Given the description of an element on the screen output the (x, y) to click on. 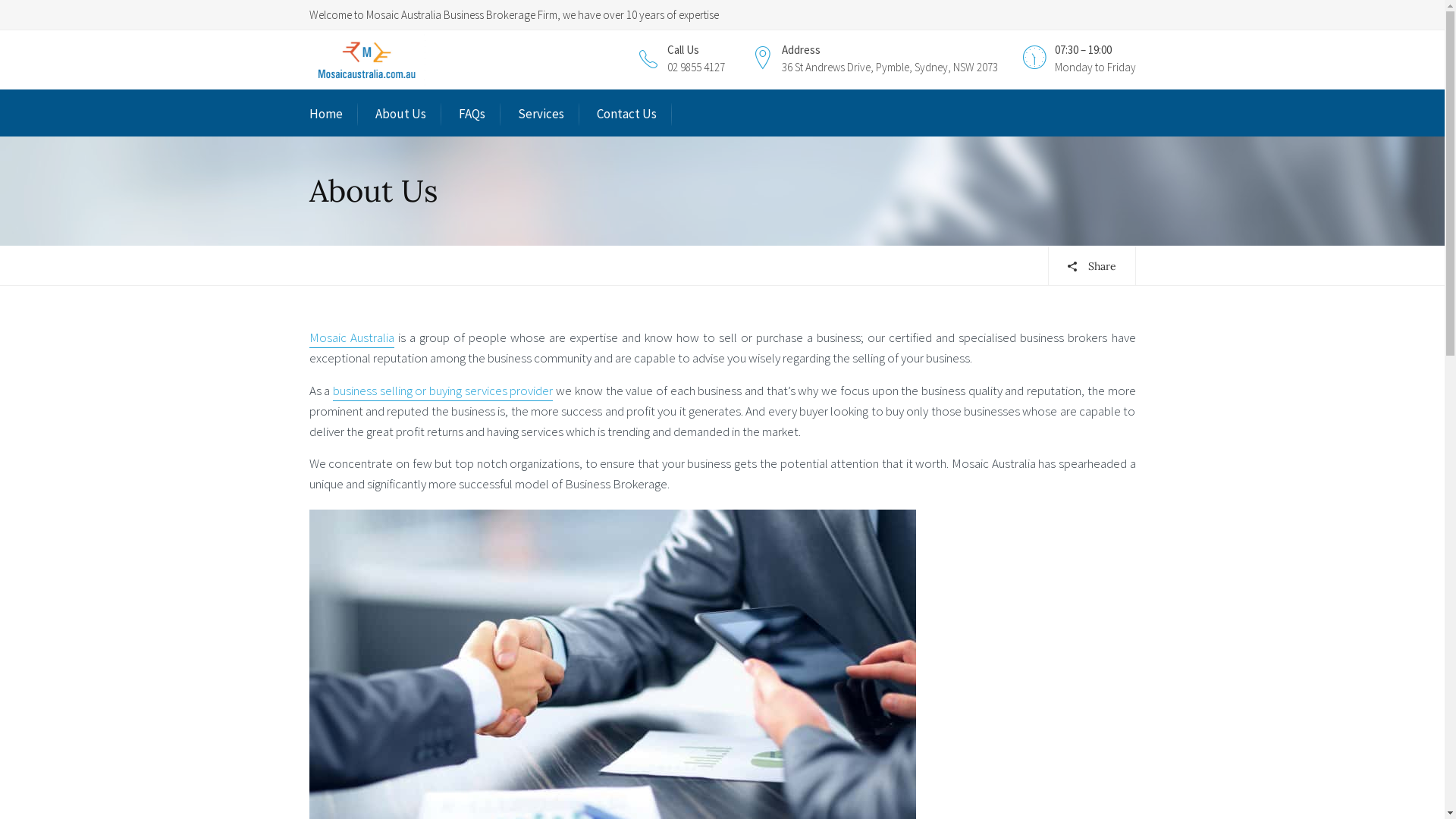
business selling or buying services provider Element type: text (442, 391)
About Us Element type: text (399, 113)
Contact Us Element type: text (625, 113)
FAQs Element type: text (471, 113)
Mosaic Australia Element type: text (351, 338)
Services Element type: text (540, 113)
Home Element type: text (325, 113)
